Given the description of an element on the screen output the (x, y) to click on. 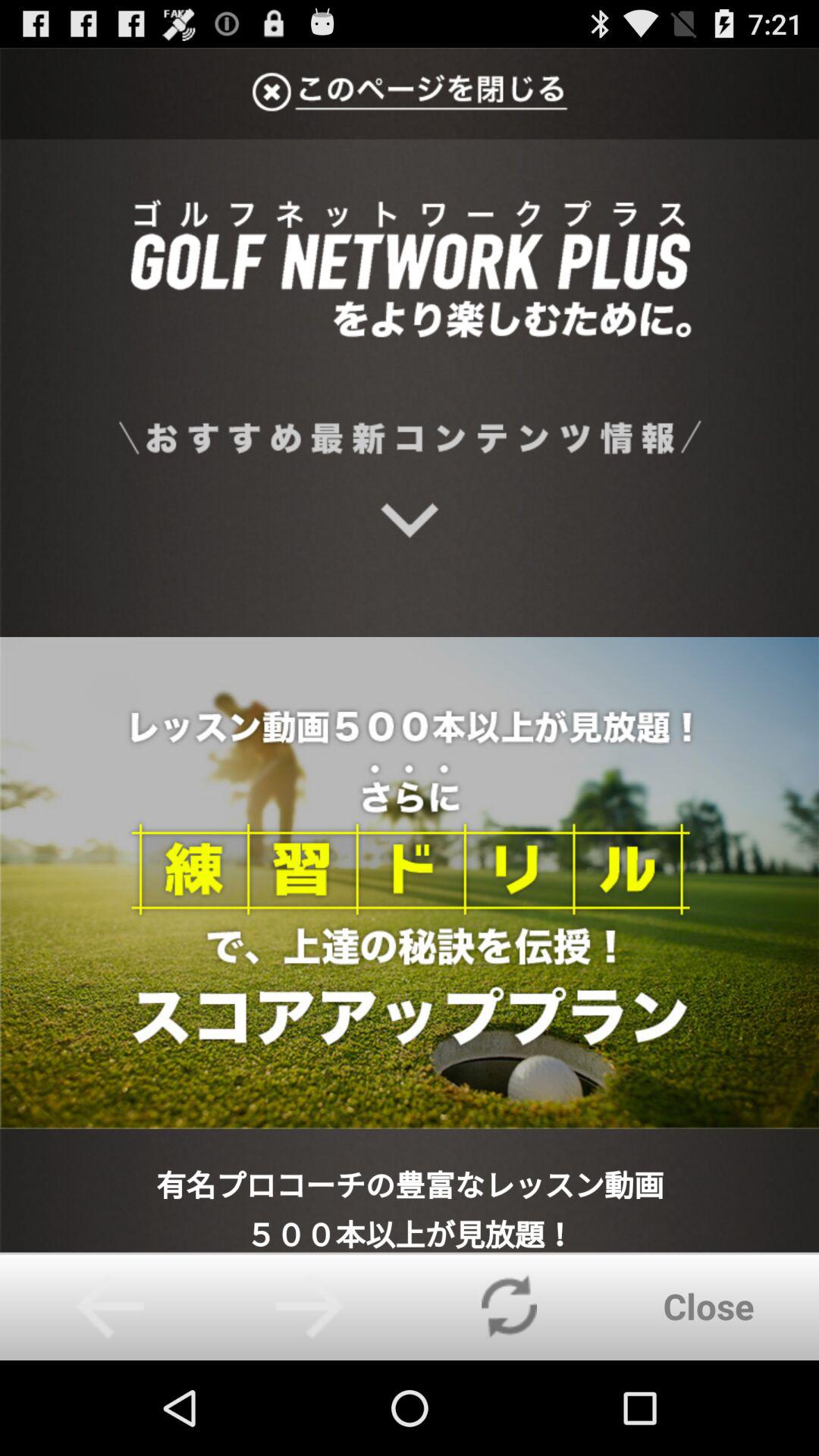
opens webpage of displayed advertisement (409, 649)
